Given the description of an element on the screen output the (x, y) to click on. 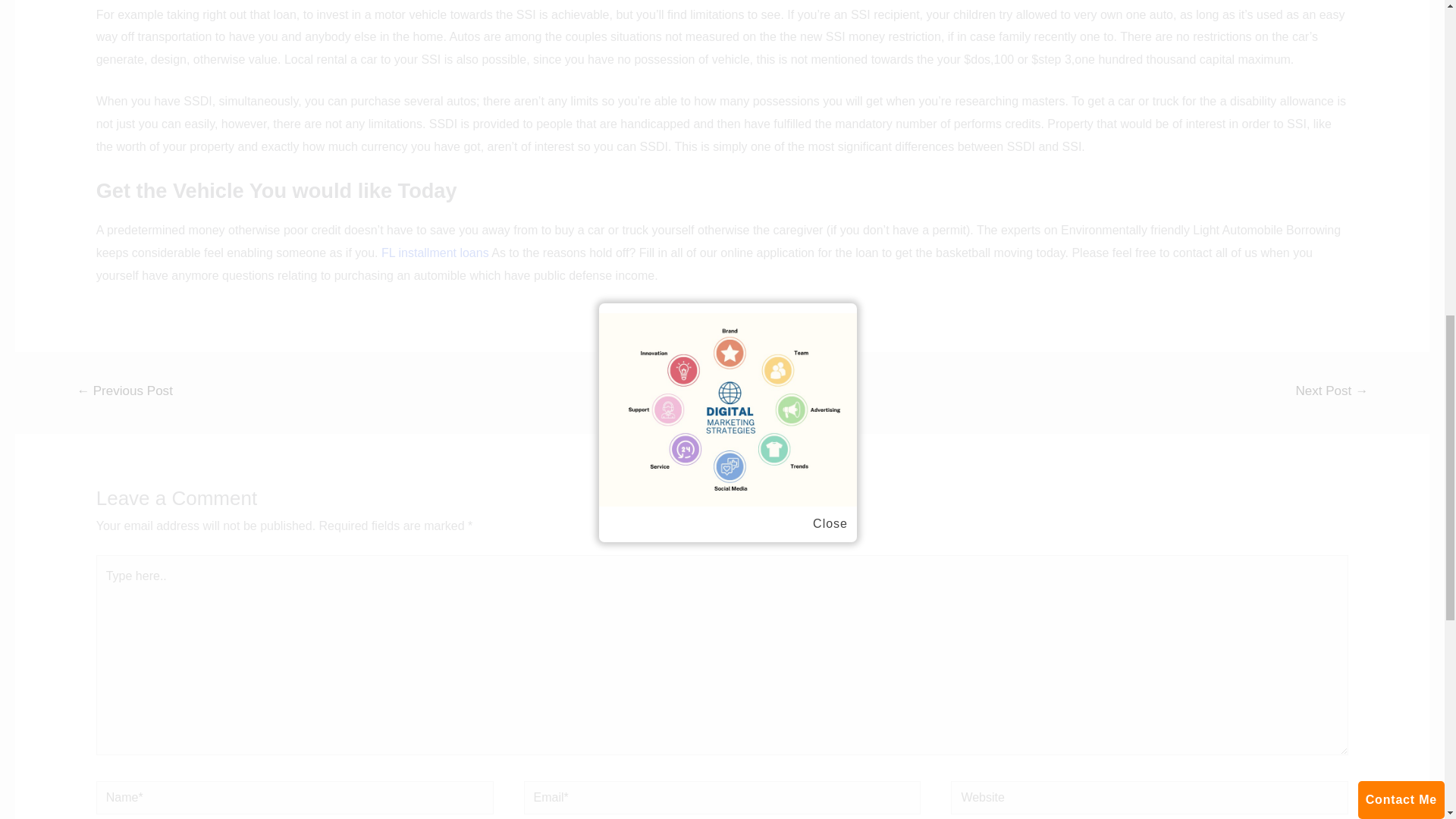
FL installment loans (435, 252)
